Given the description of an element on the screen output the (x, y) to click on. 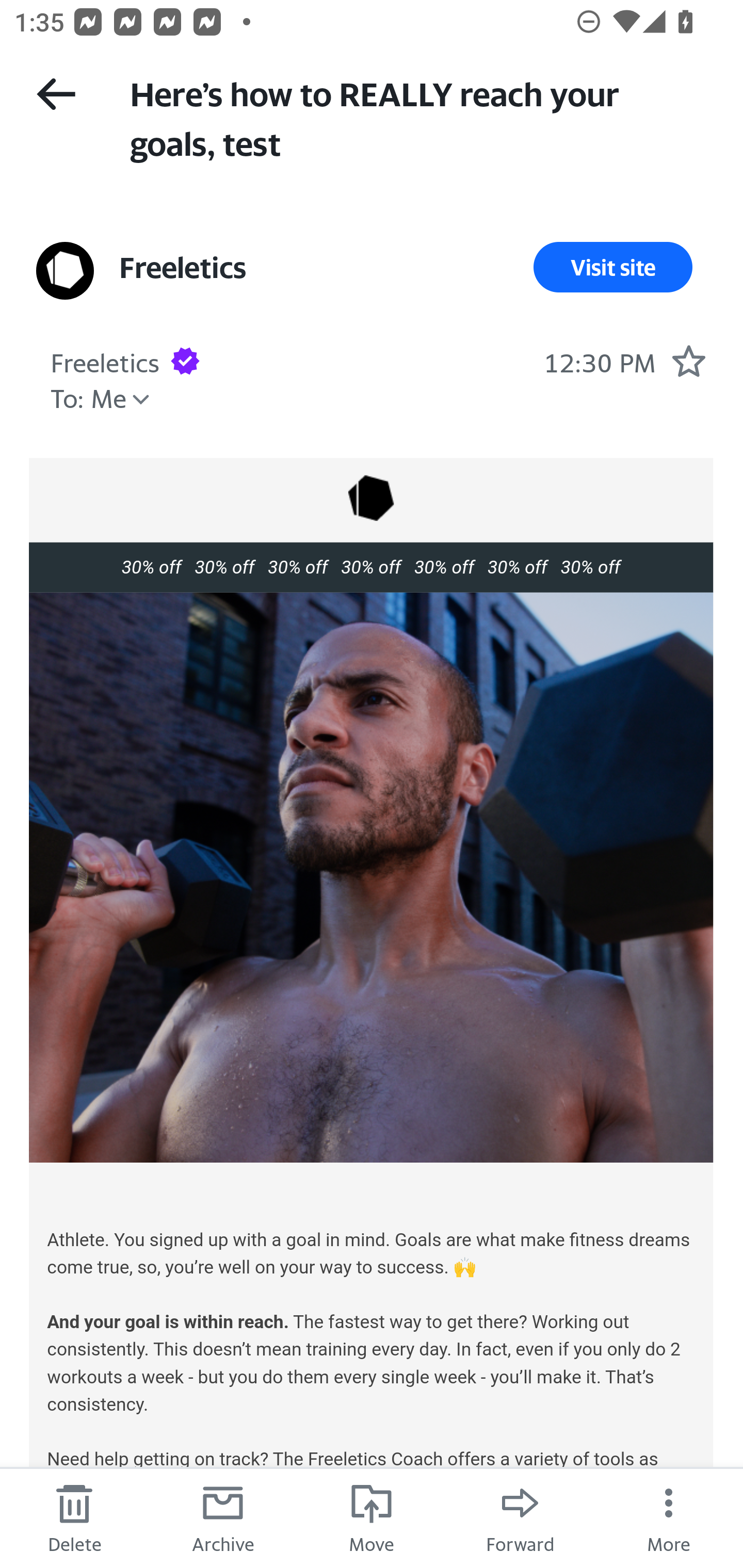
Back (55, 93)
Here’s how to REALLY reach your goals, test (418, 116)
View all messages from sender (64, 270)
Visit site Visit Site Link (612, 267)
Freeletics Sender Freeletics (182, 266)
Freeletics Sender Freeletics (104, 360)
Mark as starred. (688, 361)
Delete (74, 1517)
Archive (222, 1517)
Move (371, 1517)
Forward (519, 1517)
More (668, 1517)
